Given the description of an element on the screen output the (x, y) to click on. 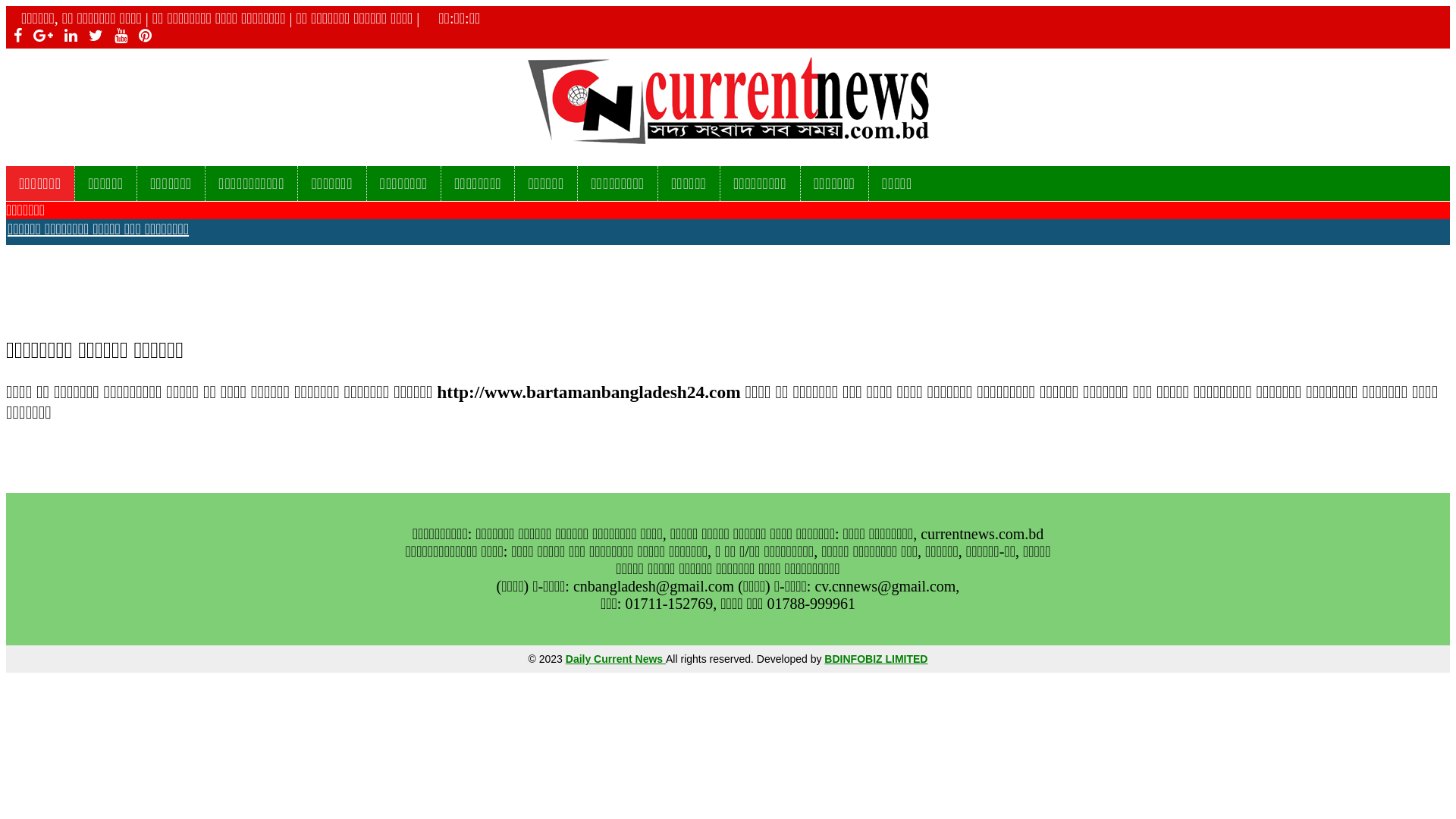
google plus Element type: hover (39, 35)
Daily Current News Element type: hover (727, 101)
BDINFOBIZ LIMITED Element type: text (875, 658)
pinterest Element type: hover (141, 35)
facebook Element type: hover (13, 35)
twitter Element type: hover (92, 35)
Daily Current News Element type: text (615, 658)
linkedIn Element type: hover (66, 35)
youtube Element type: hover (116, 35)
